Given the description of an element on the screen output the (x, y) to click on. 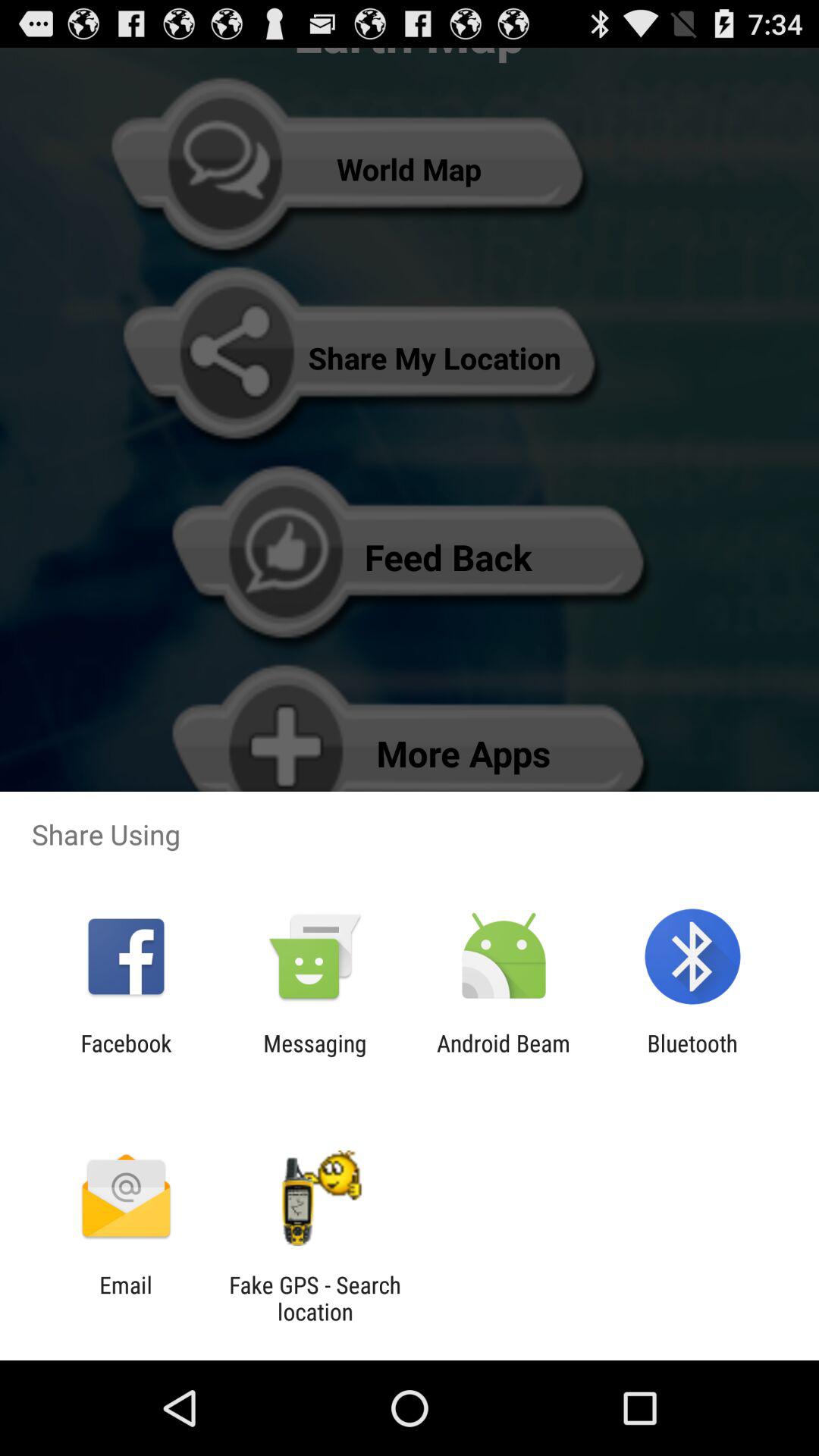
tap the icon to the right of the messaging (503, 1056)
